Given the description of an element on the screen output the (x, y) to click on. 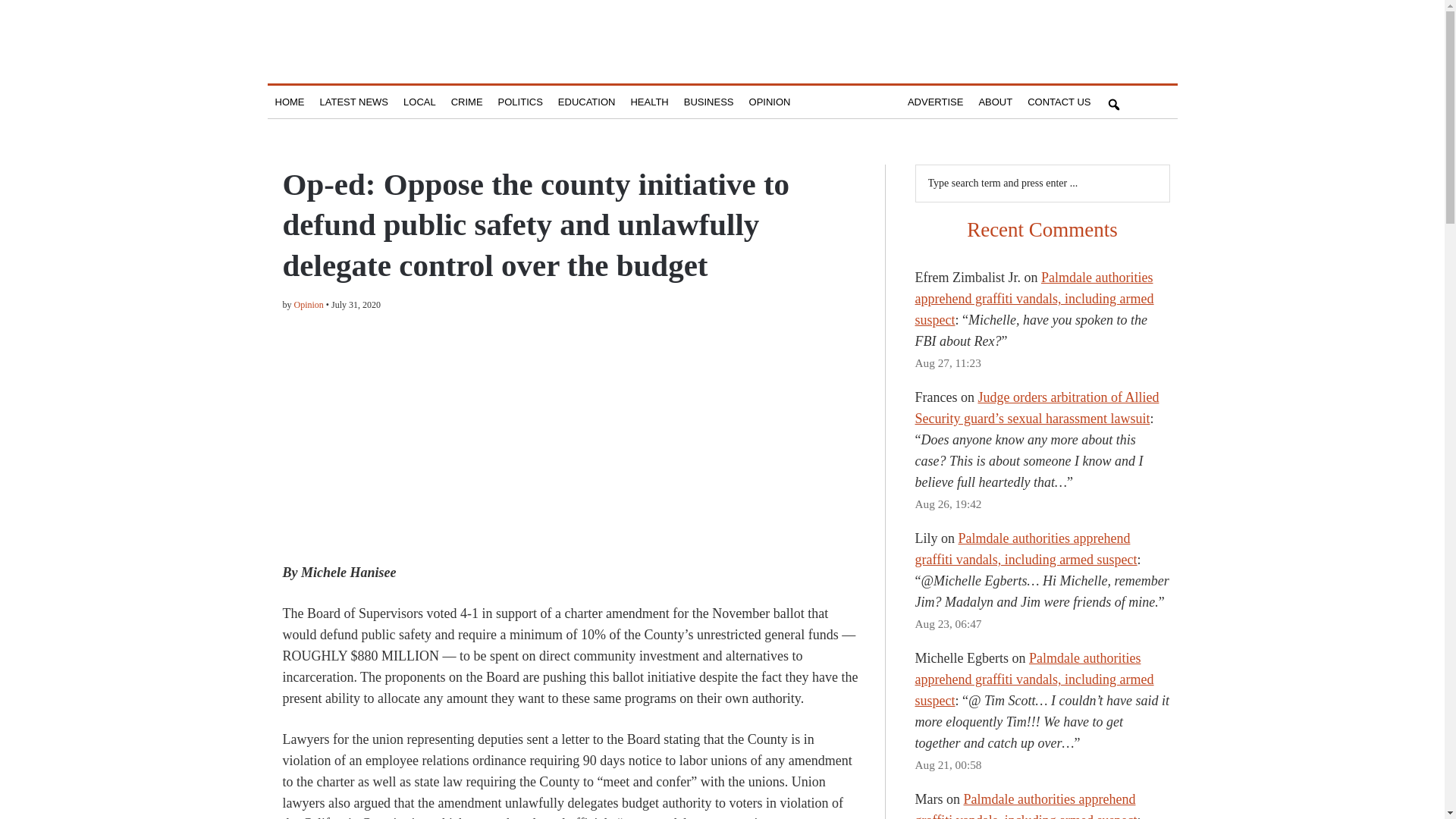
BUSINESS (709, 101)
The Antelope Valley Times (721, 49)
HEALTH (649, 101)
LATEST NEWS (354, 101)
ABOUT (995, 101)
OPINION (769, 101)
HOME (288, 101)
